Given the description of an element on the screen output the (x, y) to click on. 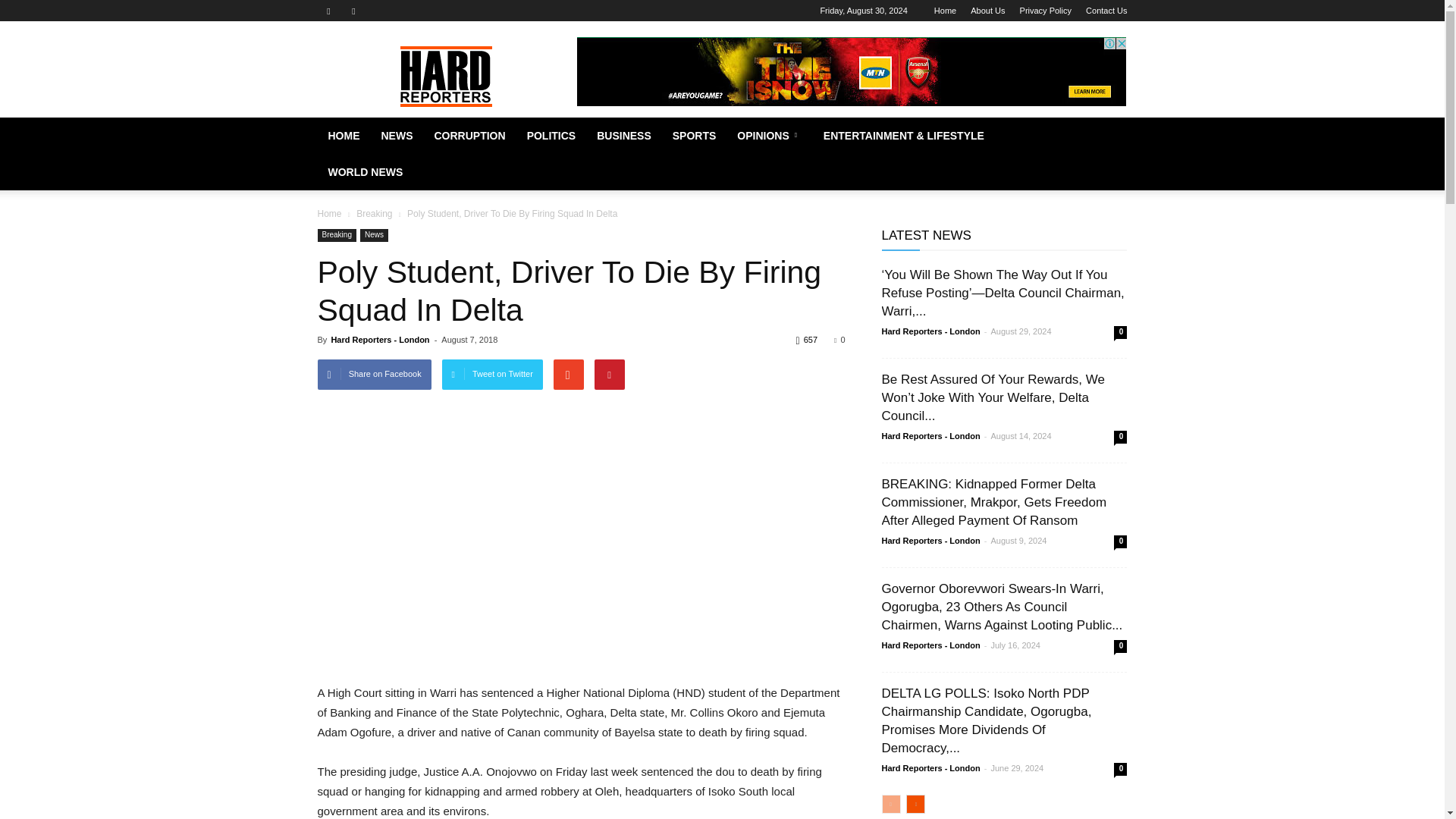
About Us (987, 10)
Home (945, 10)
View all posts in Breaking (375, 213)
HOME (343, 135)
POLITICS (551, 135)
NEWS (396, 135)
Contact Us (1106, 10)
Home (328, 213)
CORRUPTION (469, 135)
BUSINESS (624, 135)
